Given the description of an element on the screen output the (x, y) to click on. 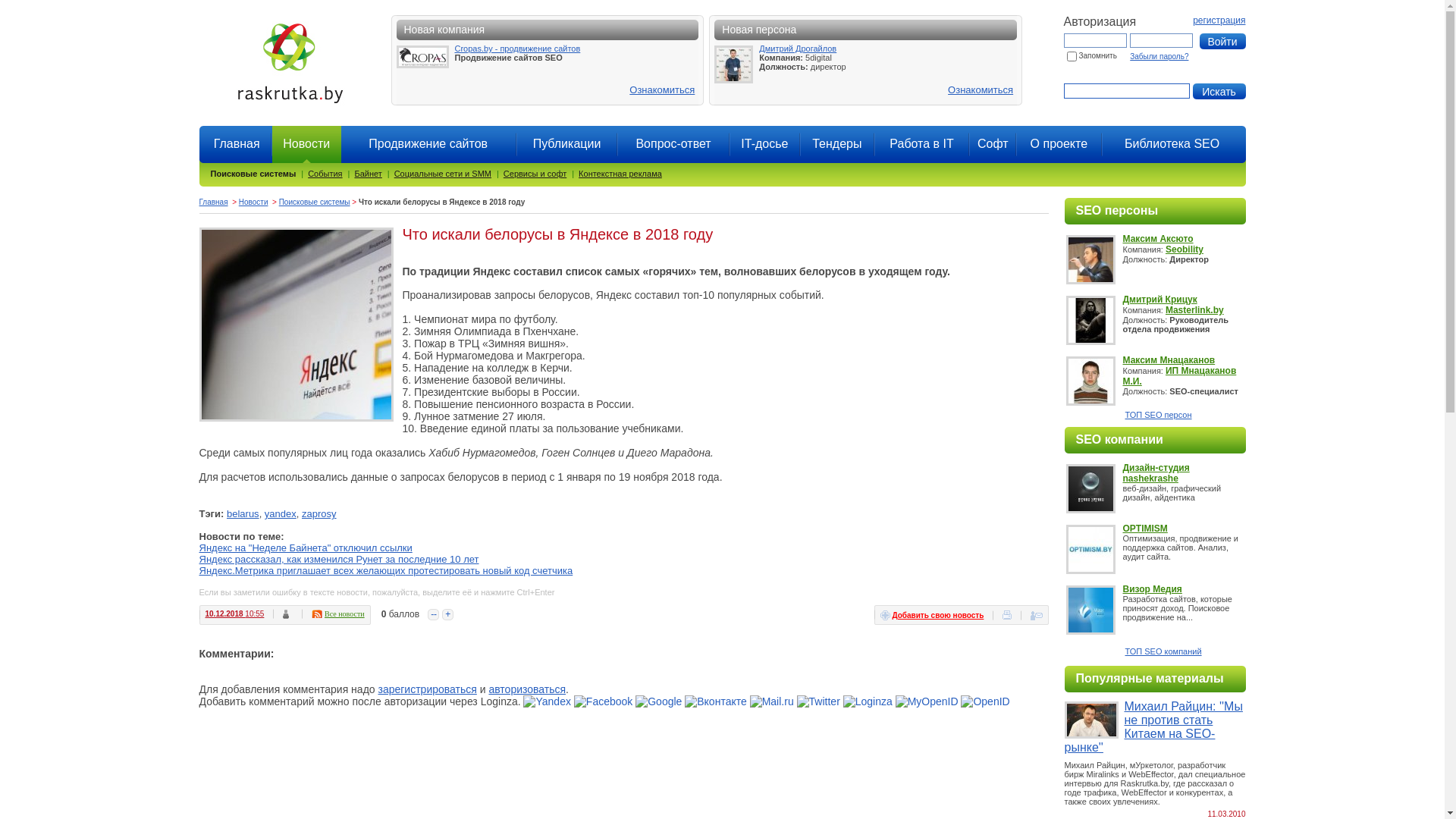
Yandex Element type: hover (546, 701)
Google Accounts Element type: hover (658, 701)
yandex Element type: text (280, 513)
Mail.ru Element type: hover (771, 701)
OPTIMISM Element type: text (1144, 528)
Seobility Element type: text (1184, 249)
10.12.2018 10:55 Element type: text (233, 613)
MyOpenID Element type: hover (926, 701)
OpenID Element type: hover (984, 701)
+ Element type: text (447, 614)
zaprosy Element type: text (318, 513)
Masterlink.by Element type: text (1194, 309)
Loginza Element type: hover (867, 701)
belarus Element type: text (242, 513)
-- Element type: text (433, 614)
Facebook Element type: hover (603, 701)
Twitter Element type: hover (818, 701)
